Given the description of an element on the screen output the (x, y) to click on. 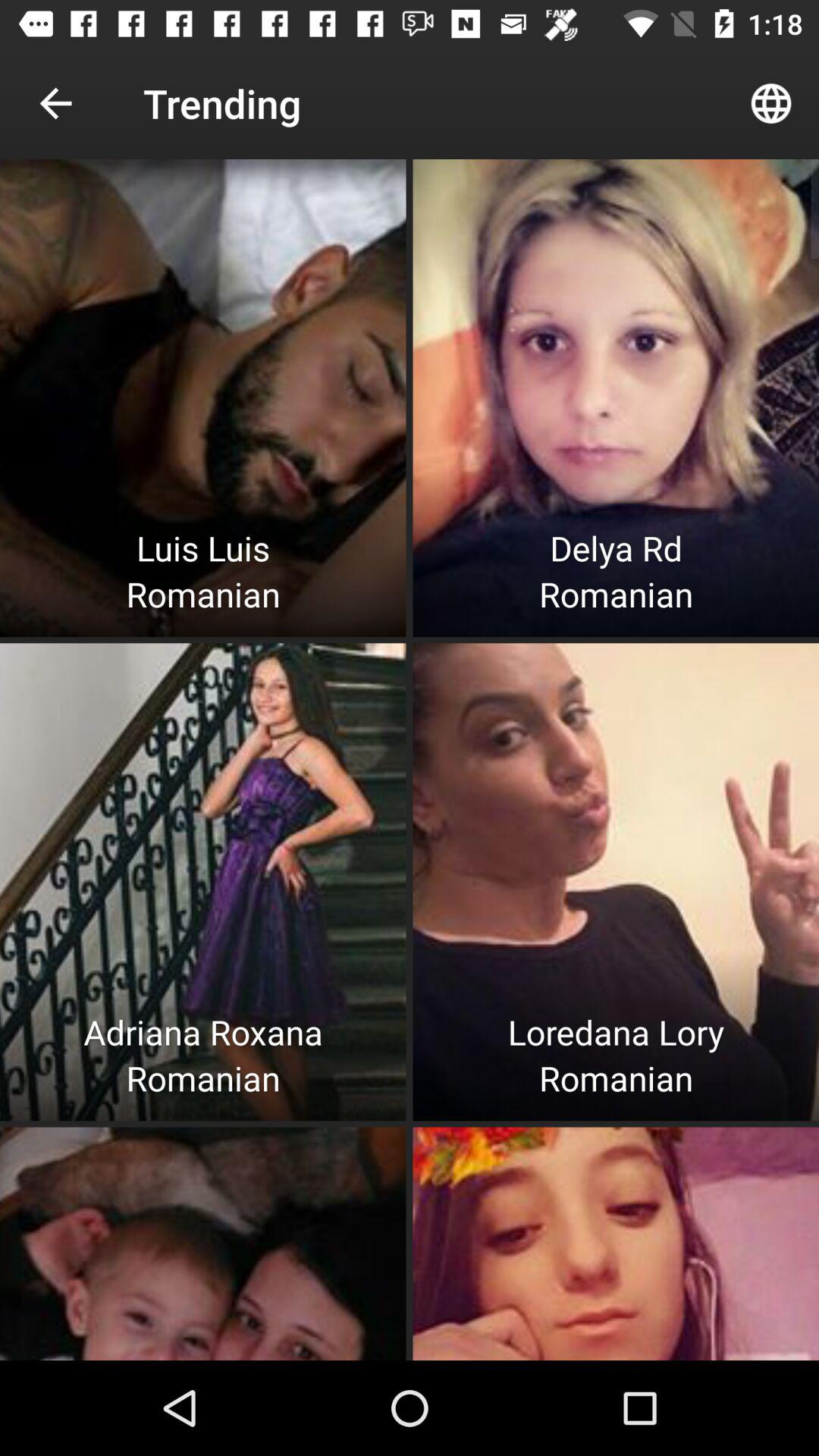
click the icon to the left of trending item (55, 103)
